Given the description of an element on the screen output the (x, y) to click on. 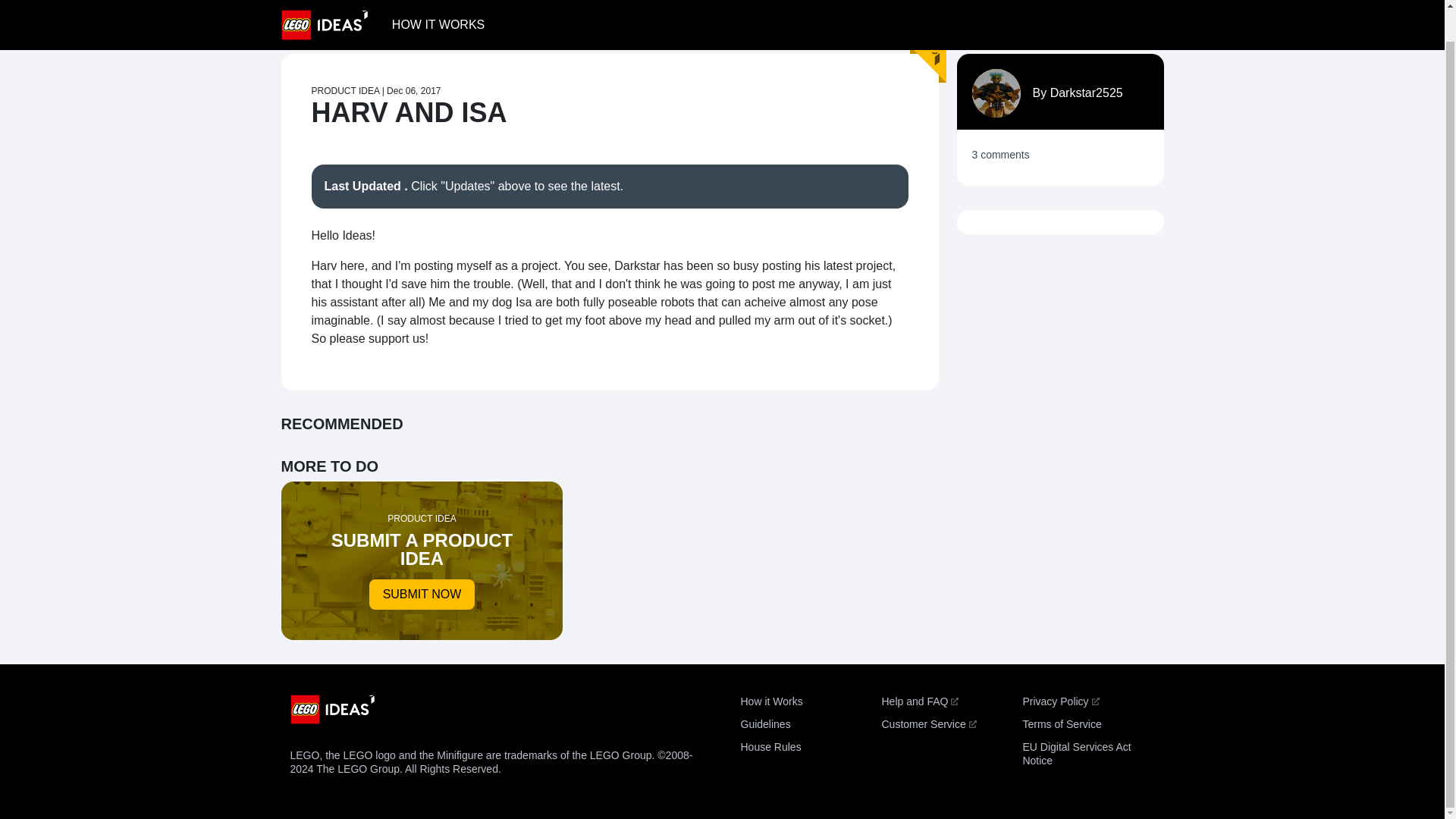
Last Updated . Click "Updates" above to see the latest. (609, 186)
HOW IT WORKS (421, 560)
House Rules (438, 3)
How it Works (769, 746)
Terms of Service (770, 701)
EU Digital Services Act Notice (1061, 724)
Customer Service (1076, 753)
Guidelines (927, 724)
Help and FAQ (764, 724)
